Given the description of an element on the screen output the (x, y) to click on. 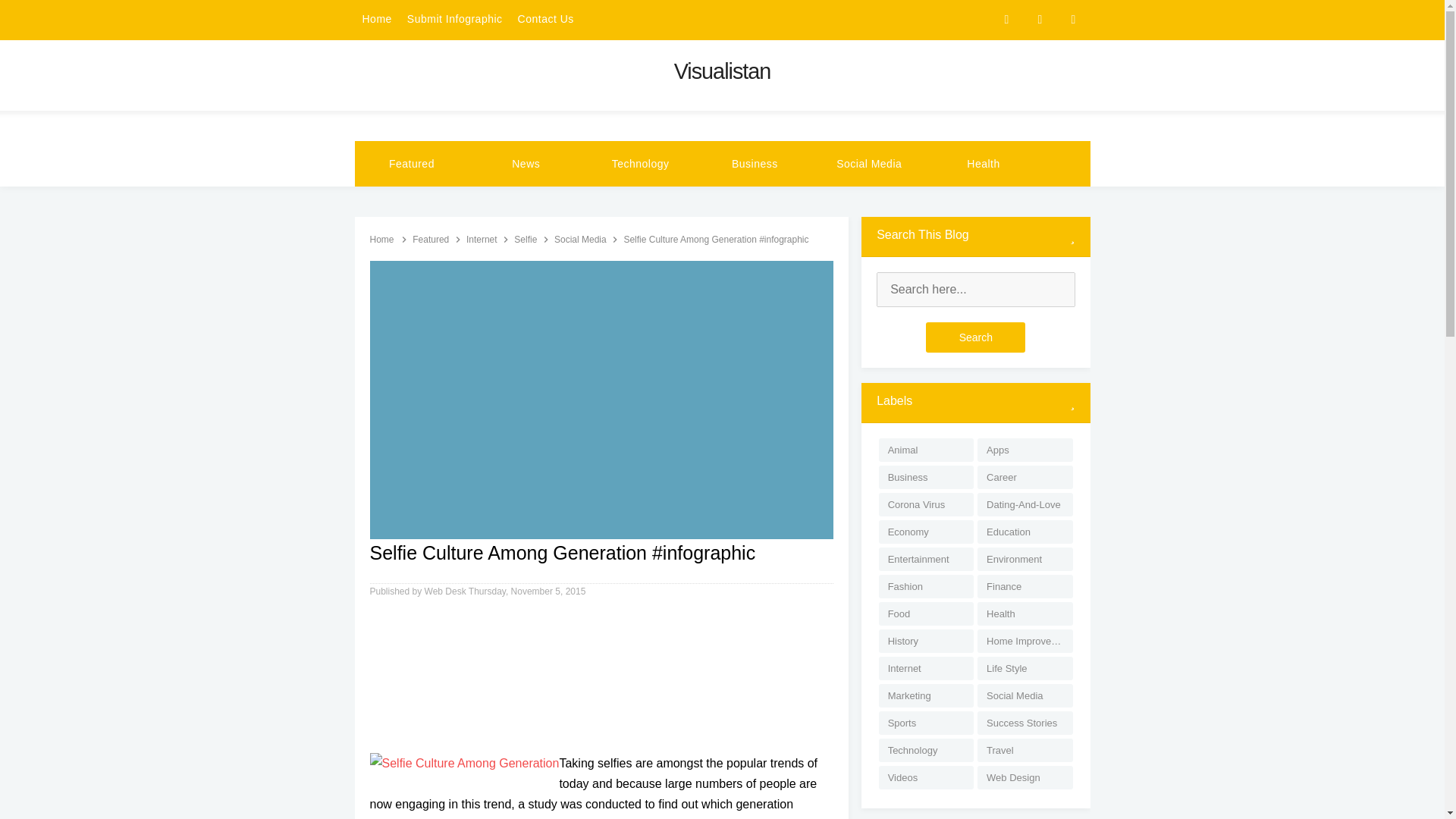
Internet (482, 239)
Selfie (525, 239)
Submit Infographic (454, 20)
Business (754, 163)
Home (381, 239)
Selfie (525, 239)
Health (983, 163)
Visualistan (722, 70)
Search (975, 337)
Advertisement (601, 679)
Featured (431, 239)
Web Desk (446, 591)
Internet (482, 239)
News (525, 163)
Technology (640, 163)
